Given the description of an element on the screen output the (x, y) to click on. 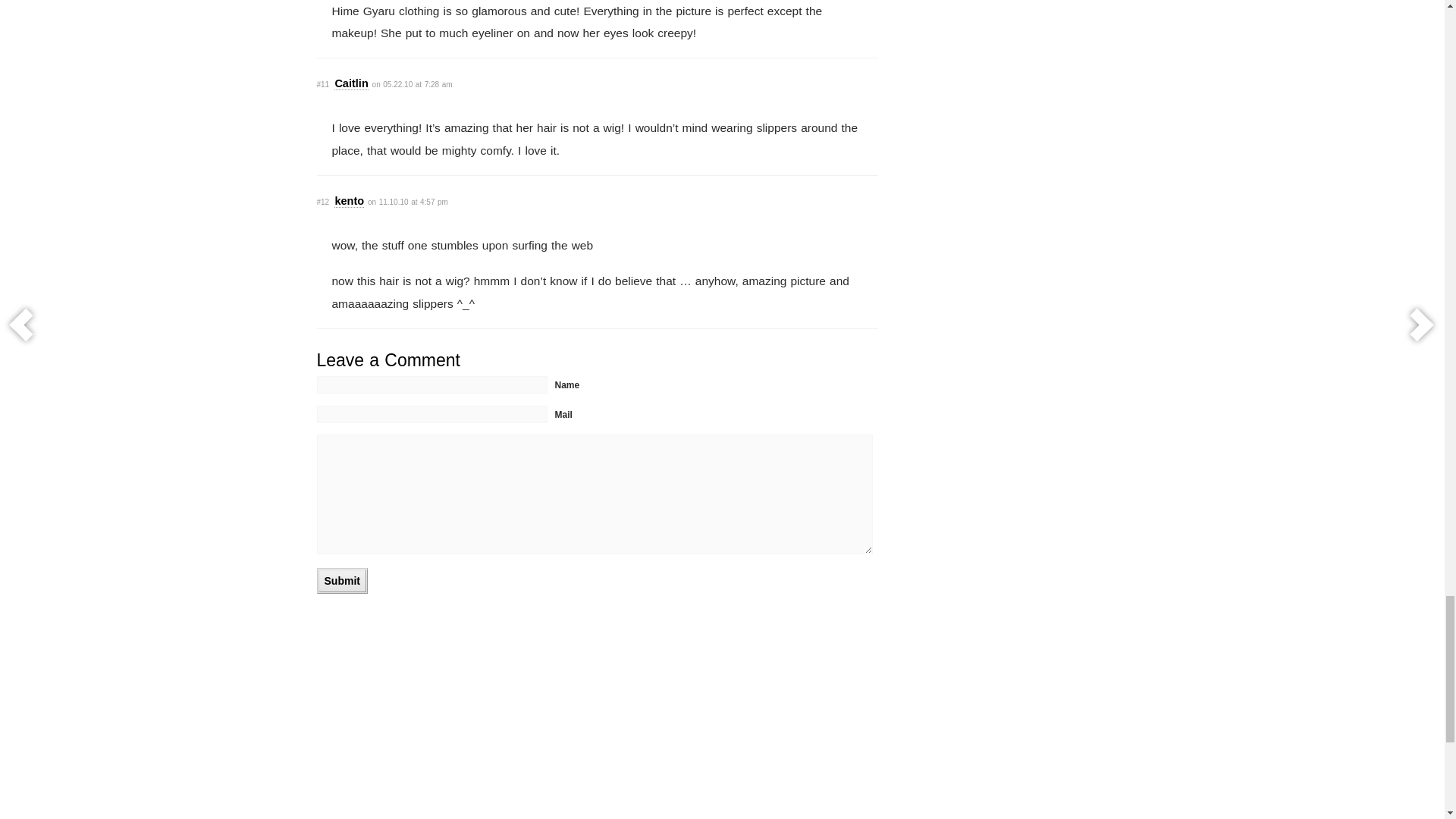
Submit (342, 580)
Permalink to this comment (323, 84)
